Given the description of an element on the screen output the (x, y) to click on. 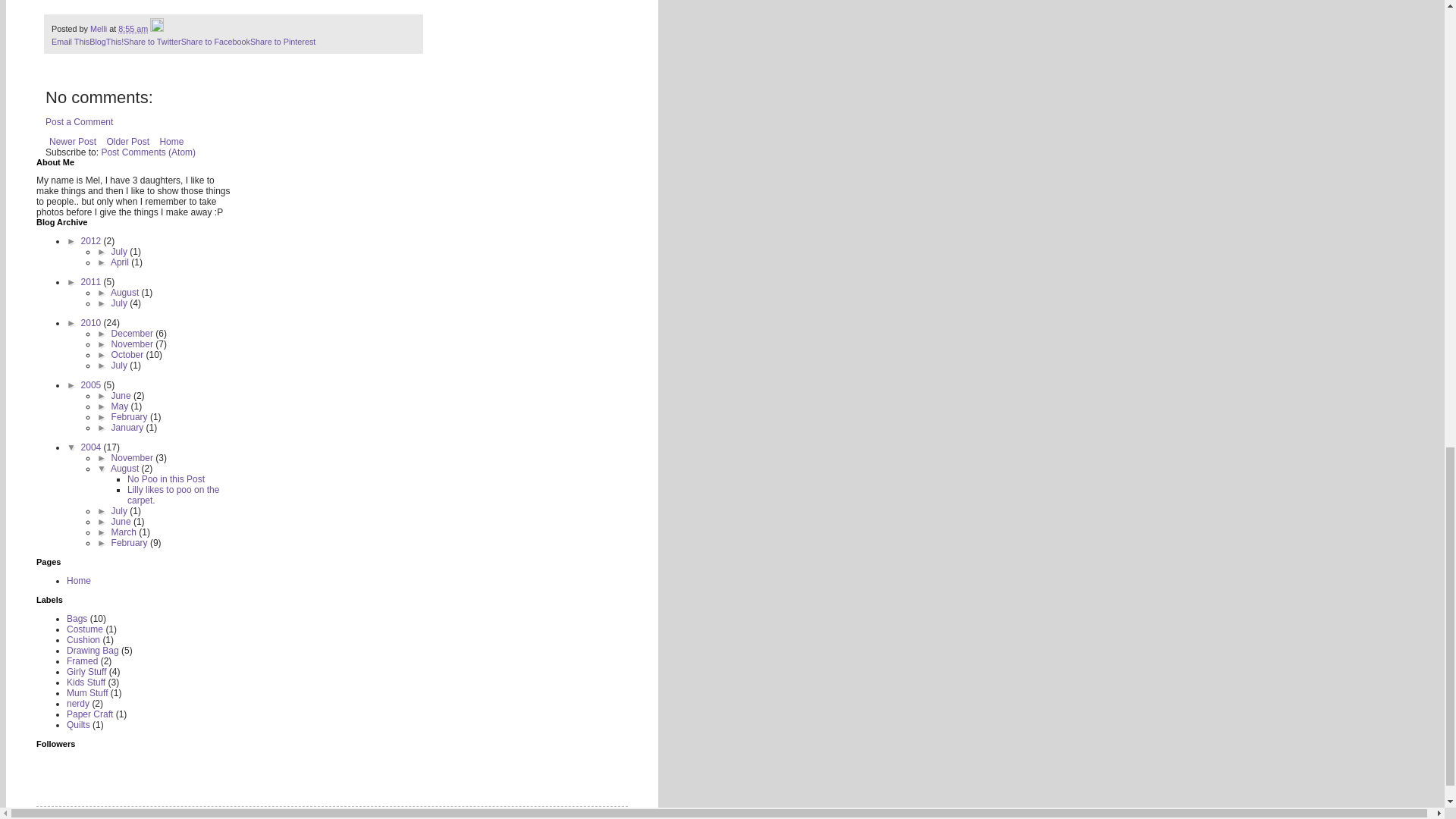
Share to Facebook (215, 40)
April (120, 262)
Newer Post (72, 141)
October (129, 354)
July (121, 251)
Melli (99, 28)
2010 (92, 322)
Edit Post (156, 28)
BlogThis! (105, 40)
permanent link (132, 28)
Share to Pinterest (282, 40)
author profile (99, 28)
Email This (69, 40)
December (133, 333)
July (121, 303)
